Given the description of an element on the screen output the (x, y) to click on. 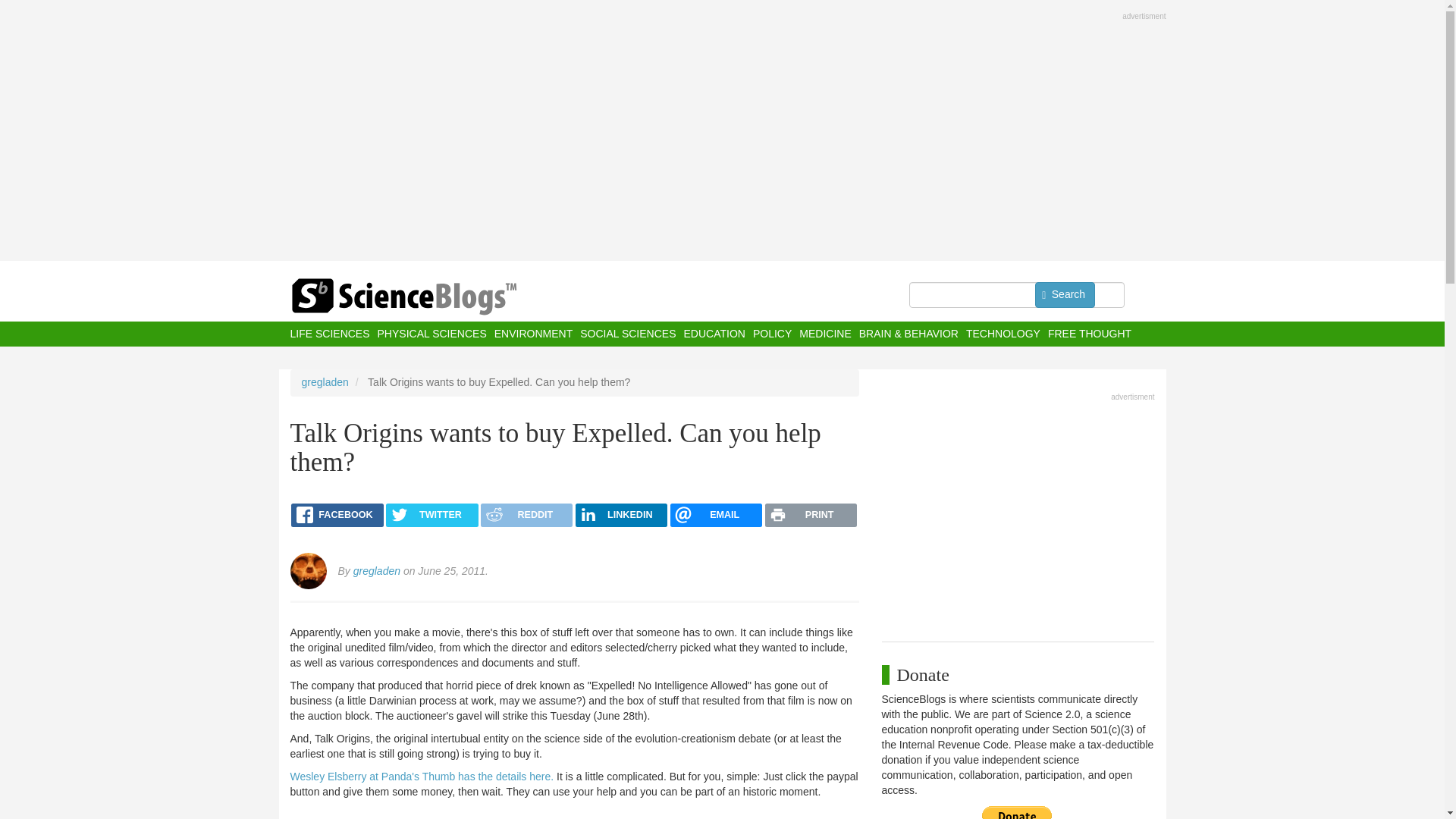
PRINT (811, 515)
LINKEDIN (620, 515)
Wesley Elsberry at Panda's Thumb has the details here. (421, 776)
Search (1064, 294)
TECHNOLOGY (1003, 334)
Home (433, 296)
REDDIT (526, 515)
MEDICINE (824, 334)
Advertisement (1017, 512)
PHYSICAL SCIENCES (431, 334)
gregladen (325, 381)
FREE THOUGHT (1089, 334)
ENVIRONMENT (533, 334)
gregladen (376, 571)
